Given the description of an element on the screen output the (x, y) to click on. 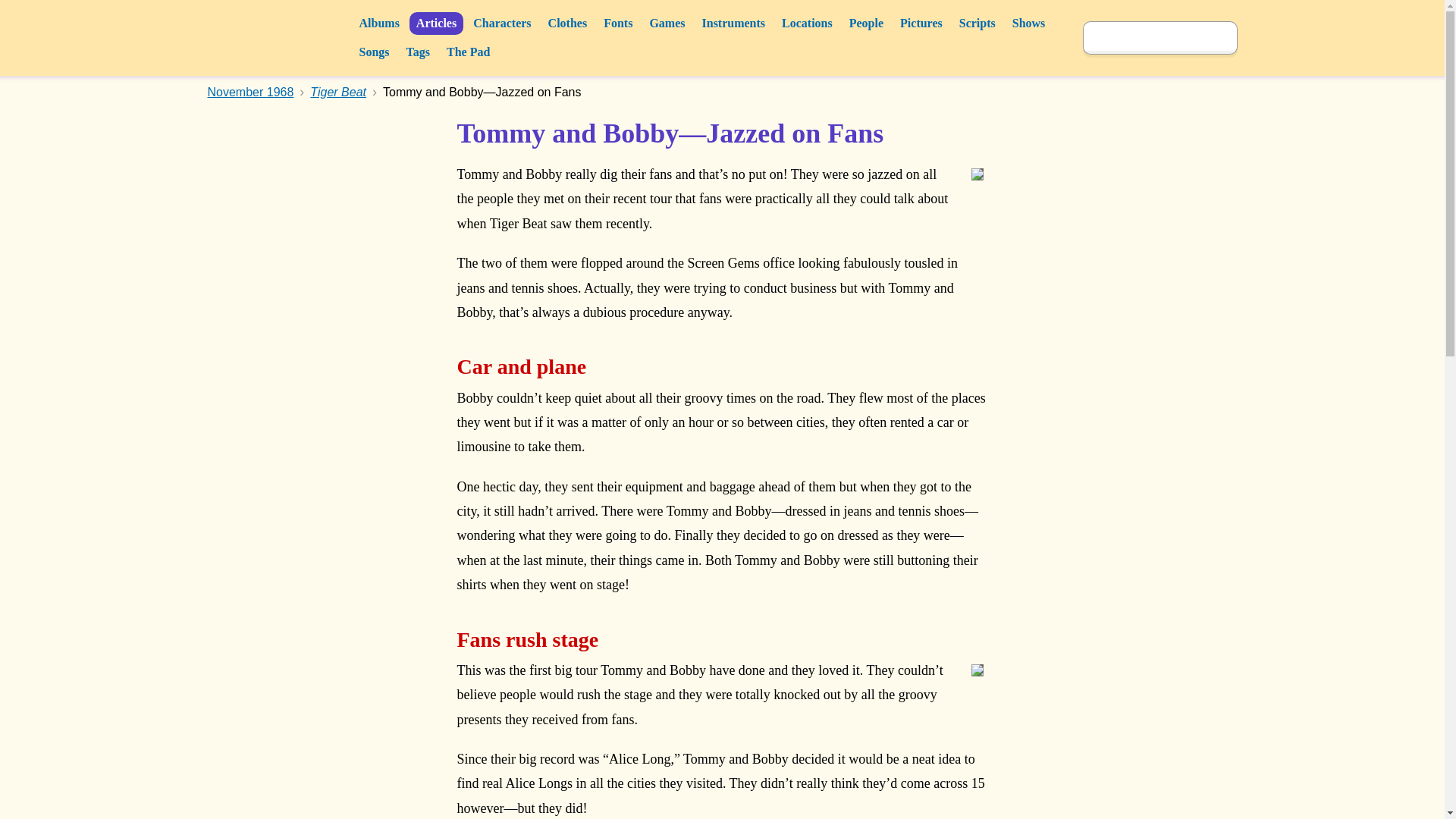
November 1968 (251, 91)
Clothes (567, 23)
Info (973, 688)
Search (1220, 37)
Songs (374, 51)
Fonts (617, 23)
Tags (417, 51)
Articles (436, 23)
Games (666, 23)
The Pad (467, 51)
